Given the description of an element on the screen output the (x, y) to click on. 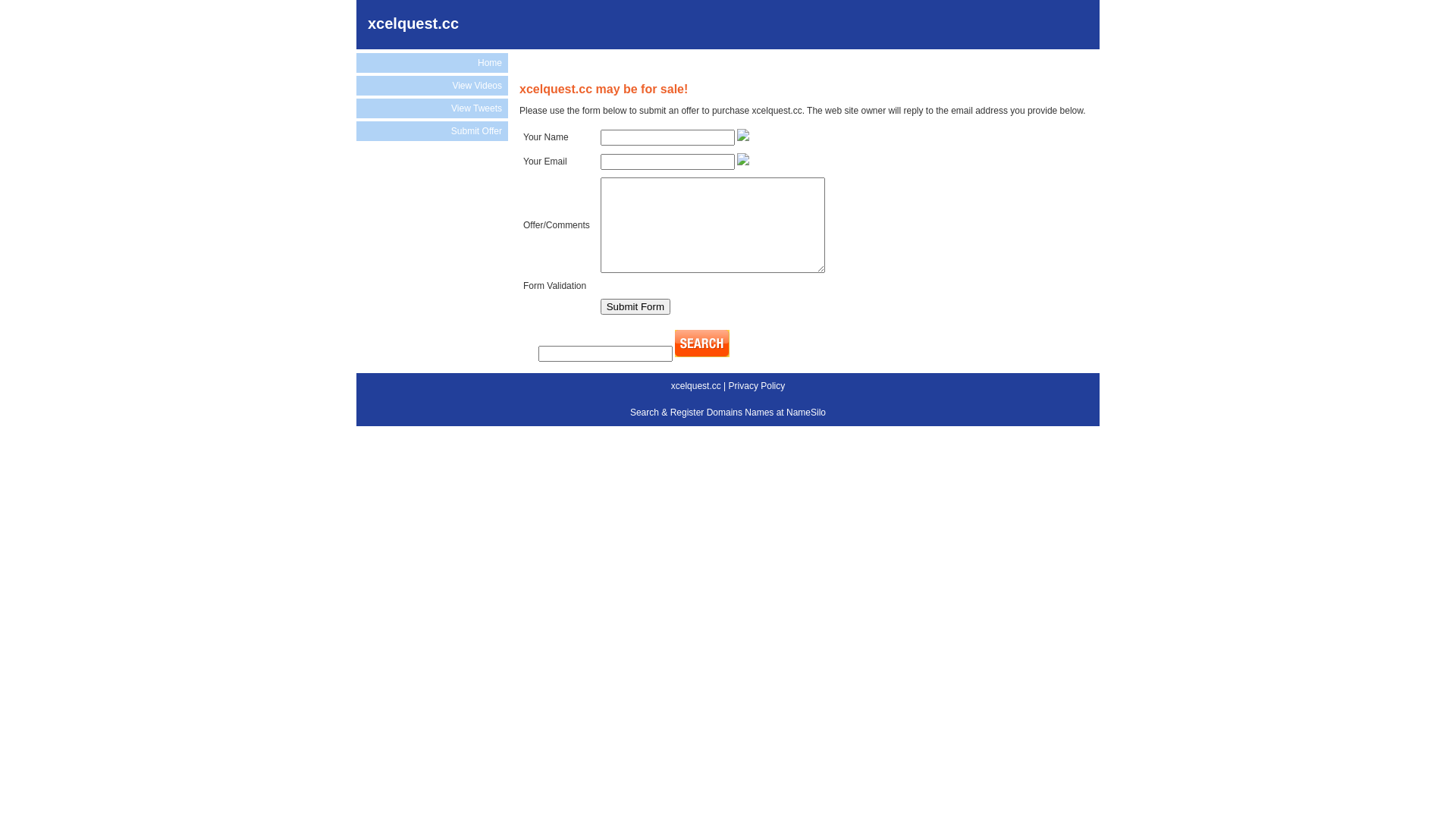
Privacy Policy Element type: text (756, 385)
Submit Offer Element type: text (432, 131)
Home Element type: text (432, 62)
Submit Form Element type: text (635, 306)
View Videos Element type: text (432, 85)
Search & Register Domains Names at NameSilo Element type: text (727, 412)
View Tweets Element type: text (432, 108)
